Given the description of an element on the screen output the (x, y) to click on. 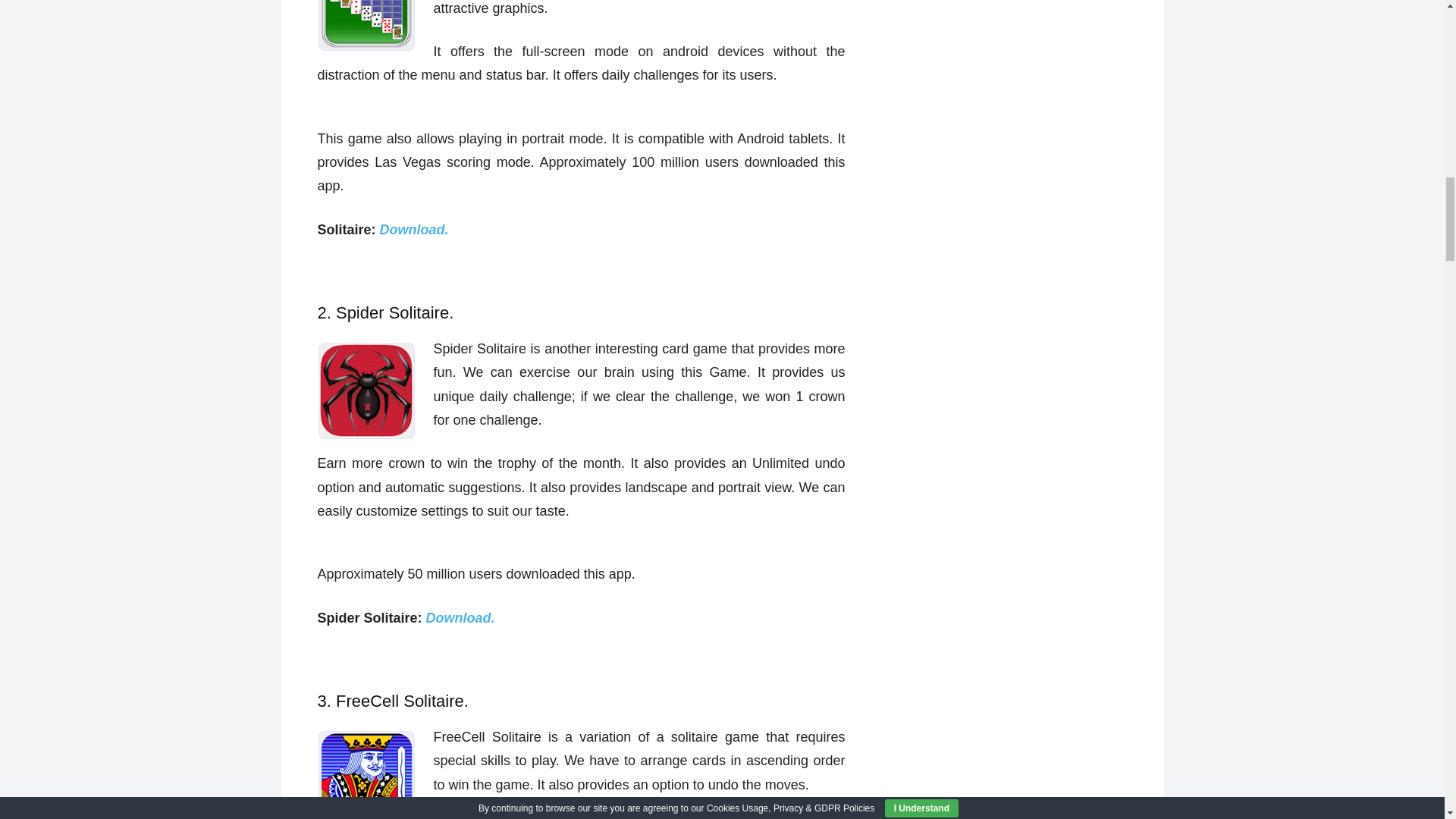
Spider Solitaire Android Card Games (365, 390)
Solitaire Android Card Games (365, 25)
